Given the description of an element on the screen output the (x, y) to click on. 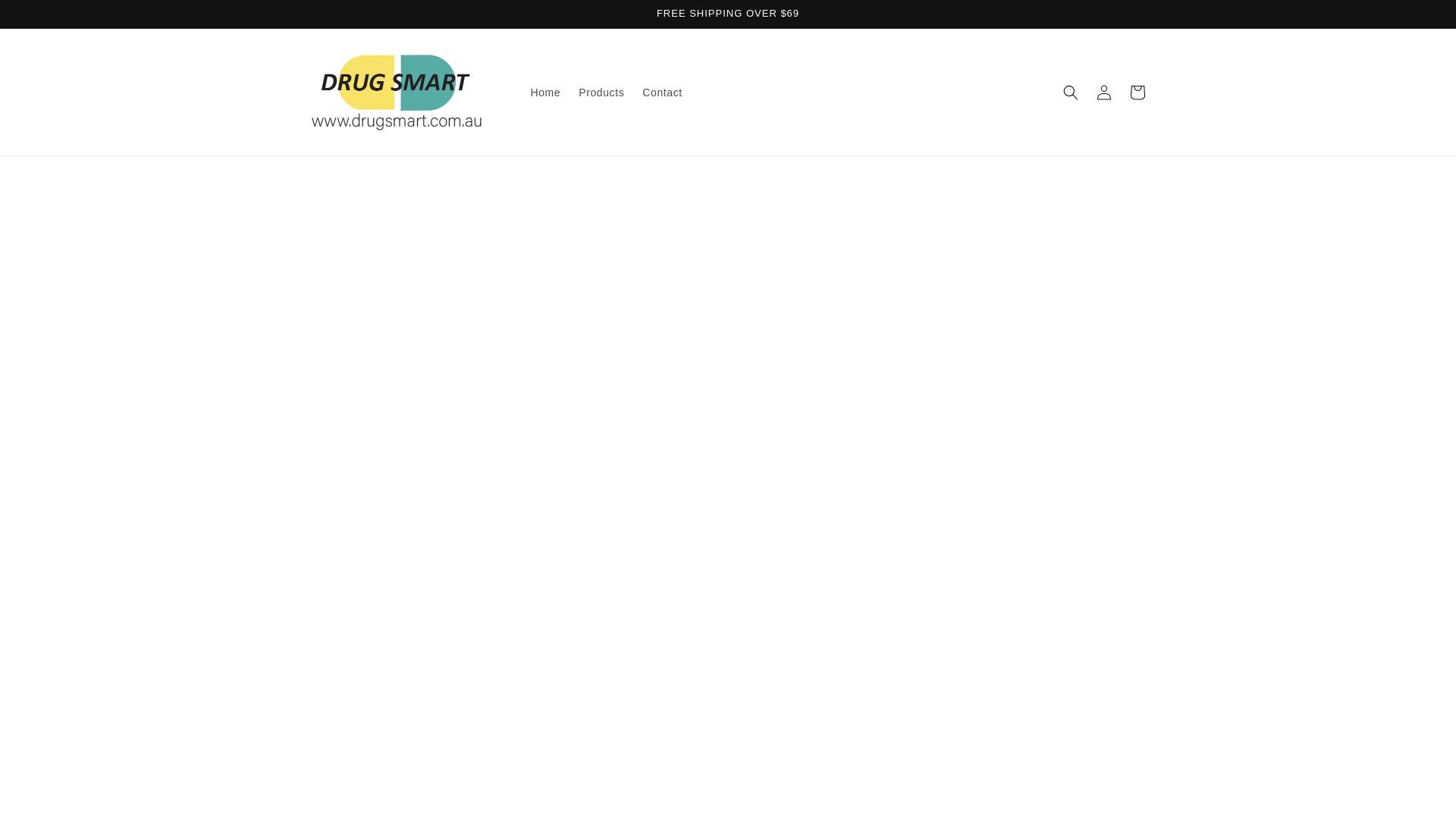
Log in Element type: text (1103, 92)
Contact Element type: text (661, 92)
Products Element type: text (601, 92)
Home Element type: text (545, 92)
Cart Element type: text (1137, 92)
